Given the description of an element on the screen output the (x, y) to click on. 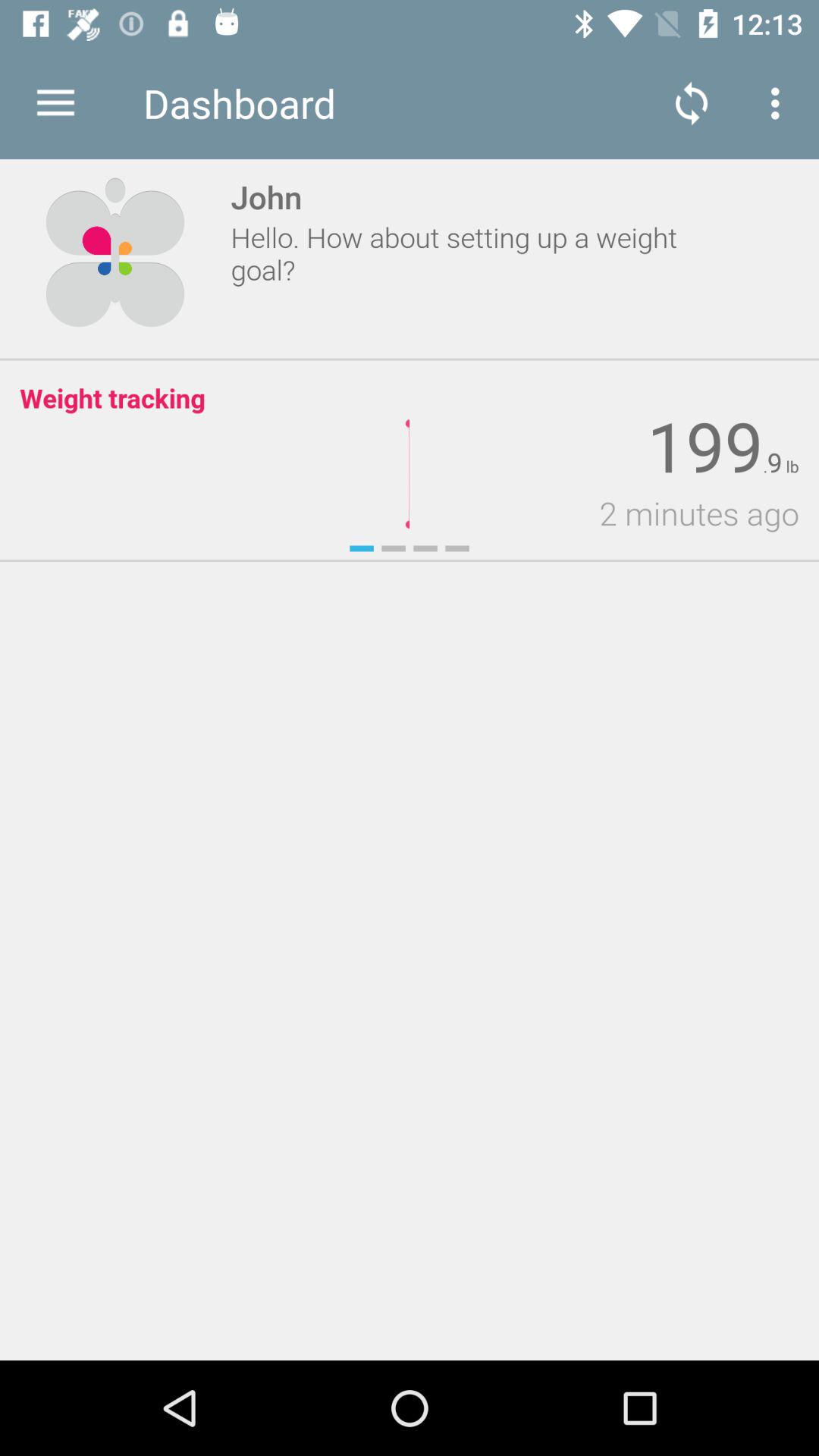
turn on item on the right (604, 512)
